Given the description of an element on the screen output the (x, y) to click on. 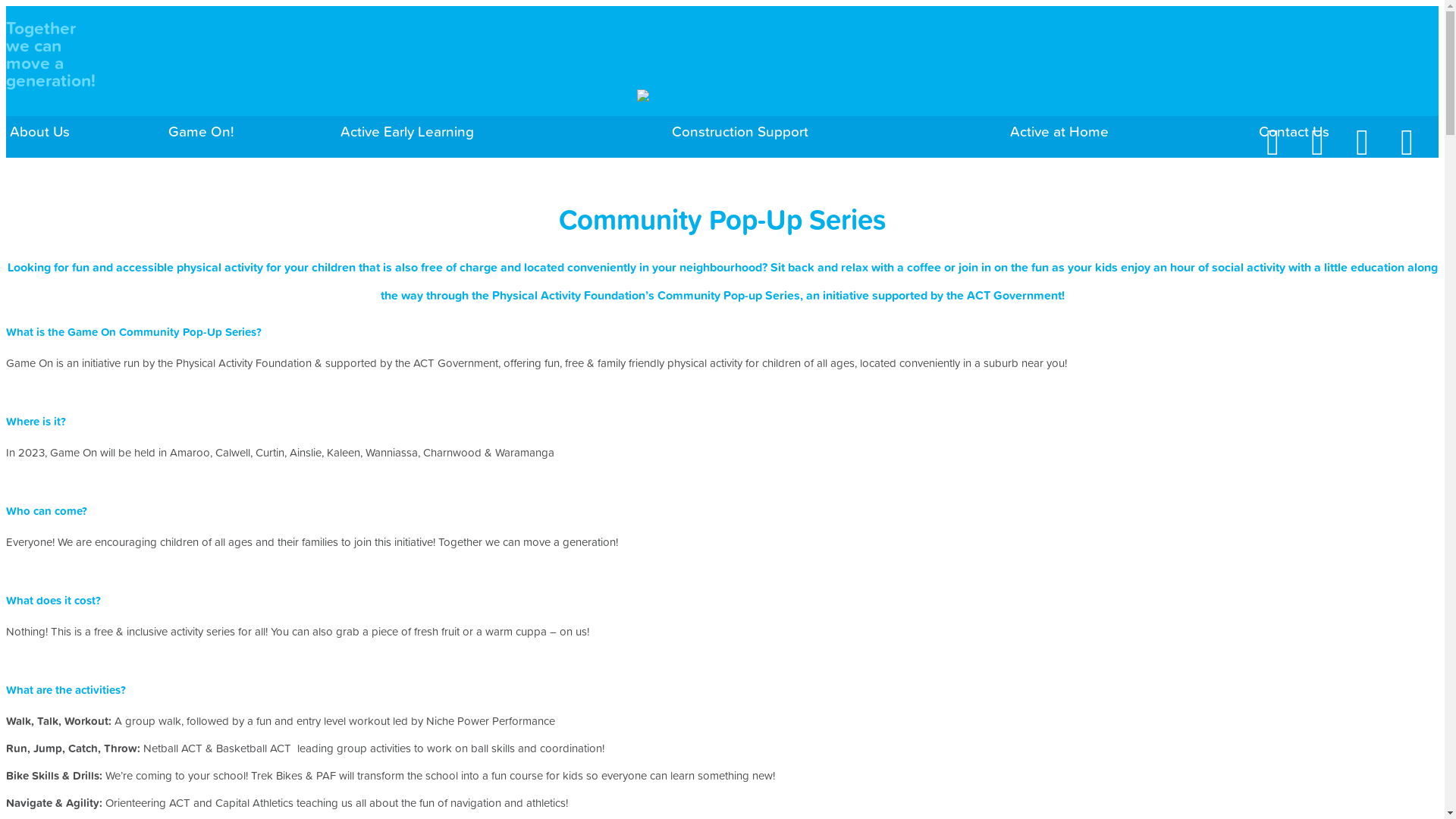
Twitter Element type: text (1327, 166)
Construction Support Element type: text (740, 130)
Contact Us Element type: text (1294, 130)
About Us Element type: text (39, 130)
Active at Home Element type: text (1059, 130)
Facebook Element type: text (1291, 166)
Vimeo Element type: text (1371, 166)
YouTube Element type: text (1421, 166)
Game On! Element type: text (201, 130)
Active Early Learning Element type: text (406, 130)
